Given the description of an element on the screen output the (x, y) to click on. 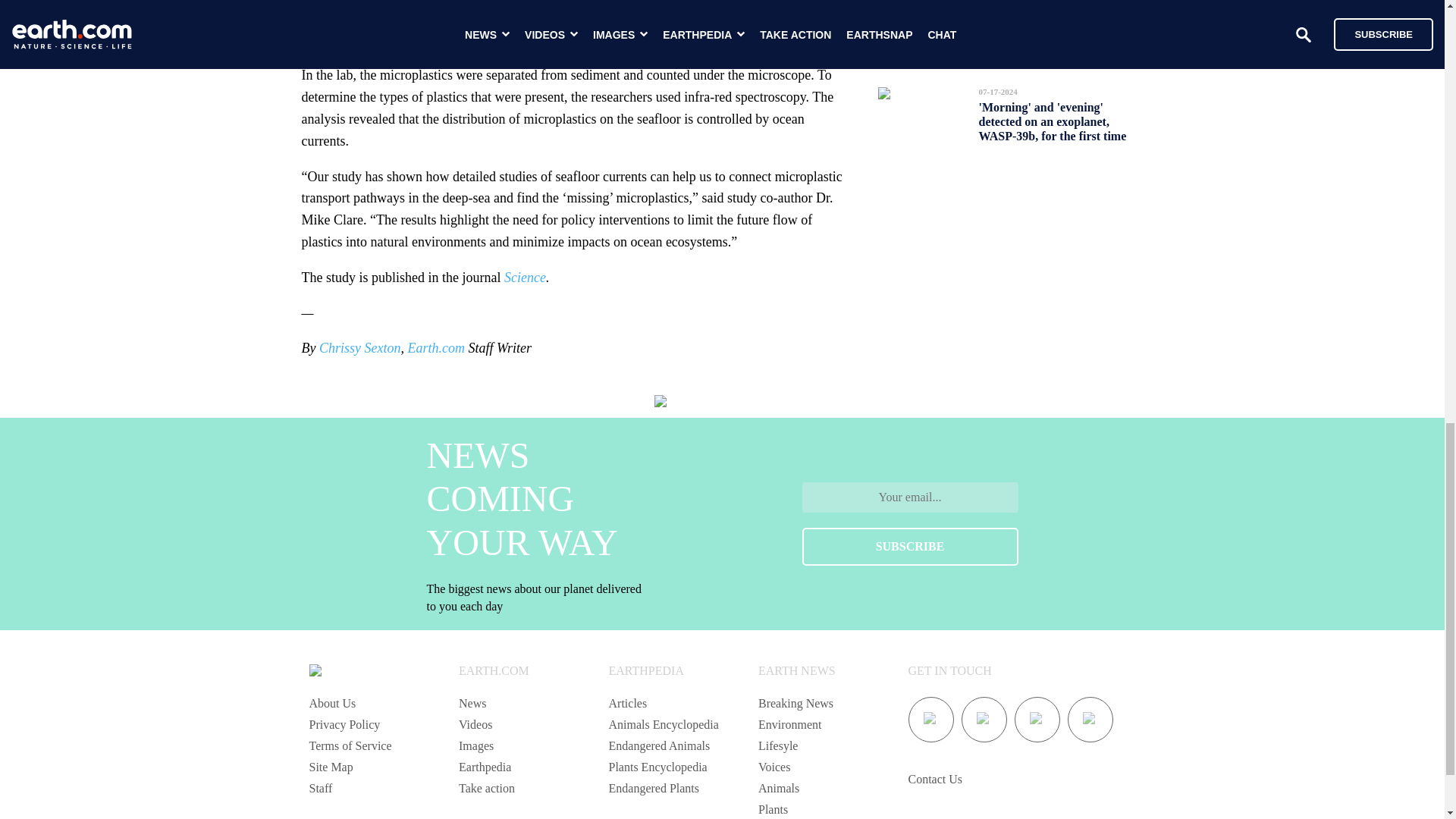
SUBSCRIBE (909, 546)
Earth.com (435, 347)
Science (524, 277)
Chrissy Sexton (359, 347)
About Us (332, 703)
